Given the description of an element on the screen output the (x, y) to click on. 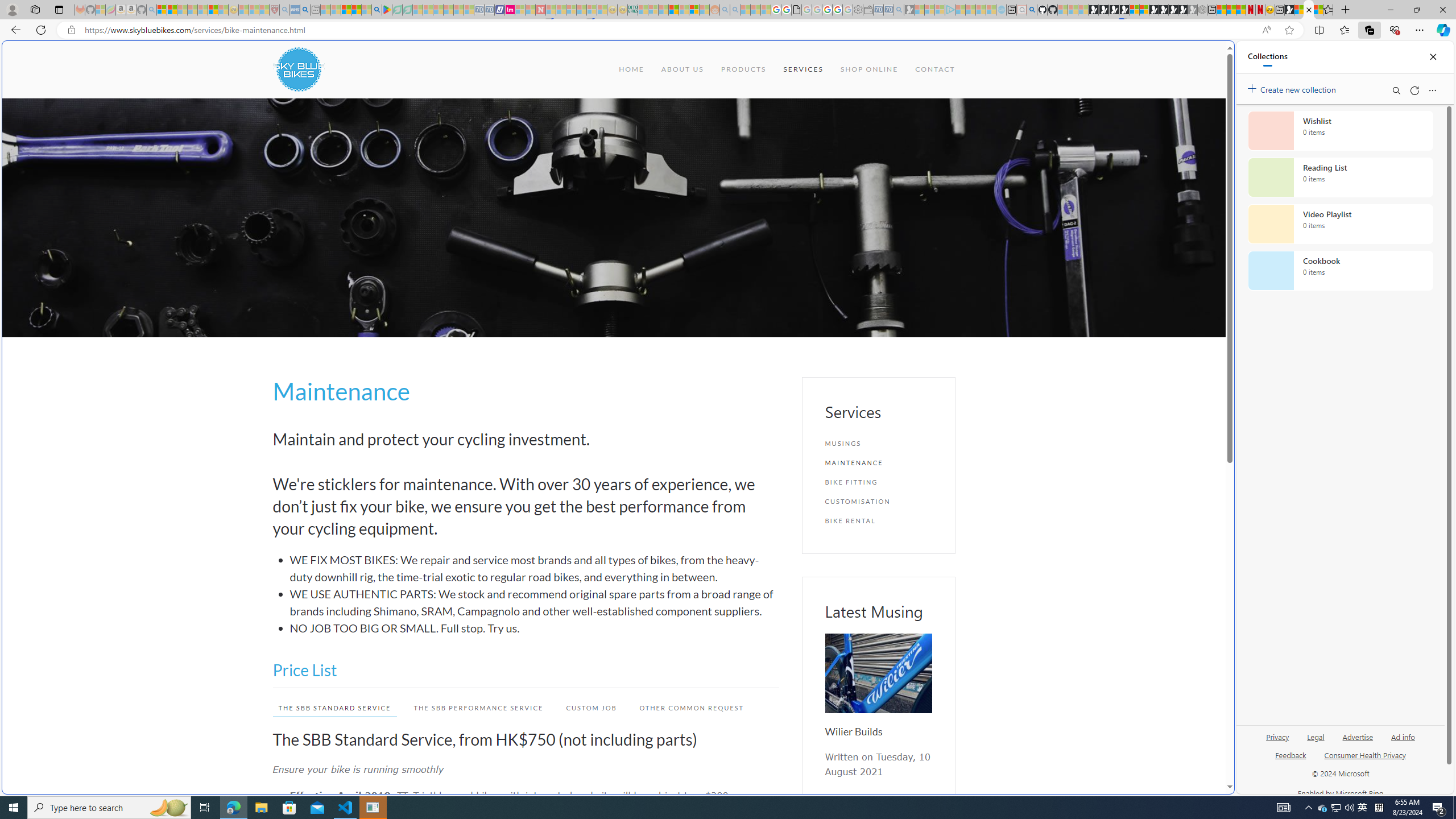
Wilier Builds (853, 730)
Class: uk-navbar-item uk-logo (298, 68)
More options menu (1432, 90)
